Given the description of an element on the screen output the (x, y) to click on. 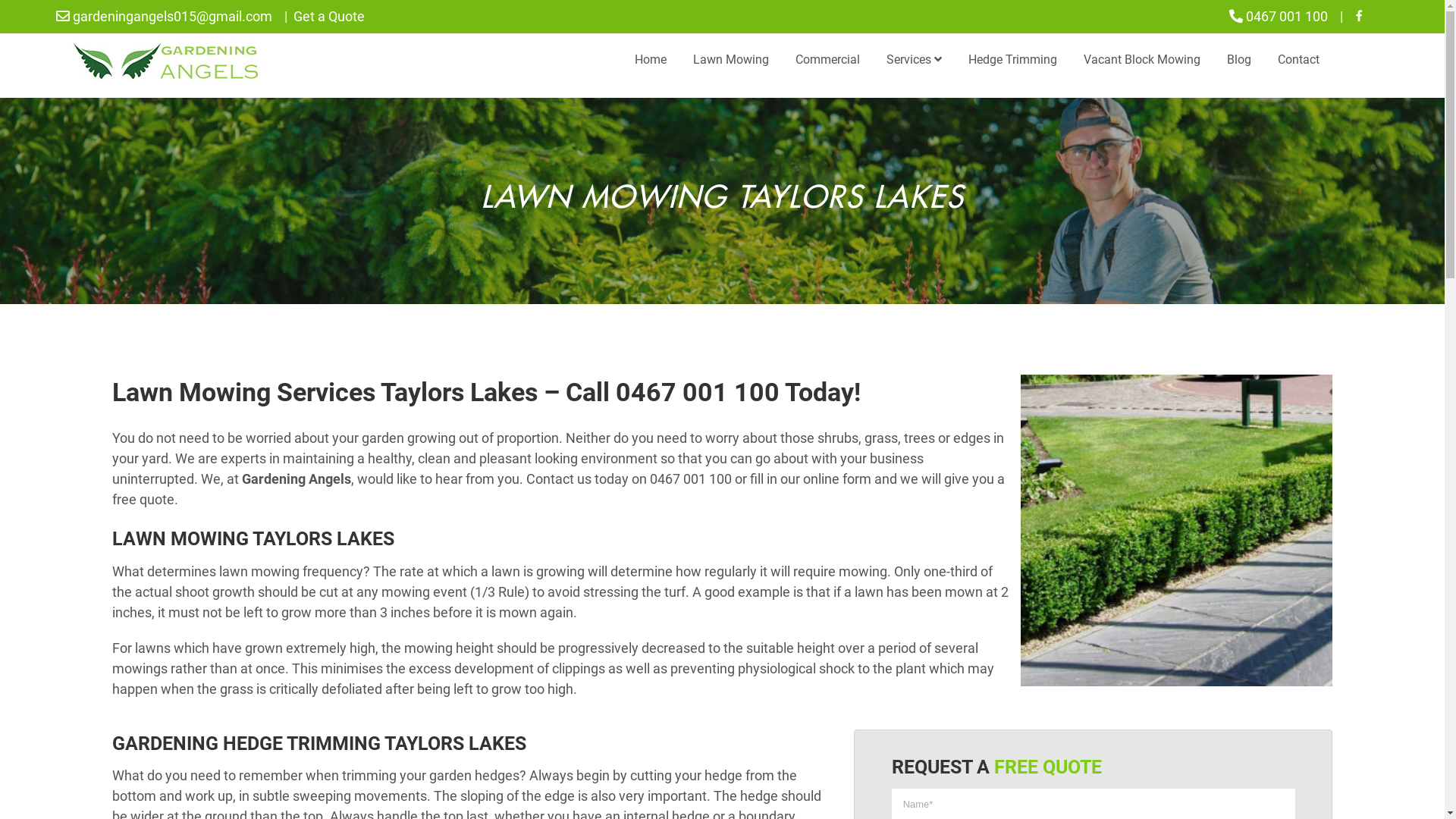
Lawn Mowing Element type: text (730, 59)
Contact Element type: text (1298, 59)
Blog Element type: text (1238, 59)
gardeningangels015@gmail.com Element type: text (164, 16)
Home Element type: text (650, 59)
Commercial Element type: text (827, 59)
Gardening Angels Element type: text (296, 478)
0467 001 100 Element type: text (1286, 16)
Services Element type: text (913, 59)
Hedge Trimming Element type: text (1012, 59)
Get a Quote Element type: text (328, 16)
Vacant Block Mowing Element type: text (1141, 59)
